Given the description of an element on the screen output the (x, y) to click on. 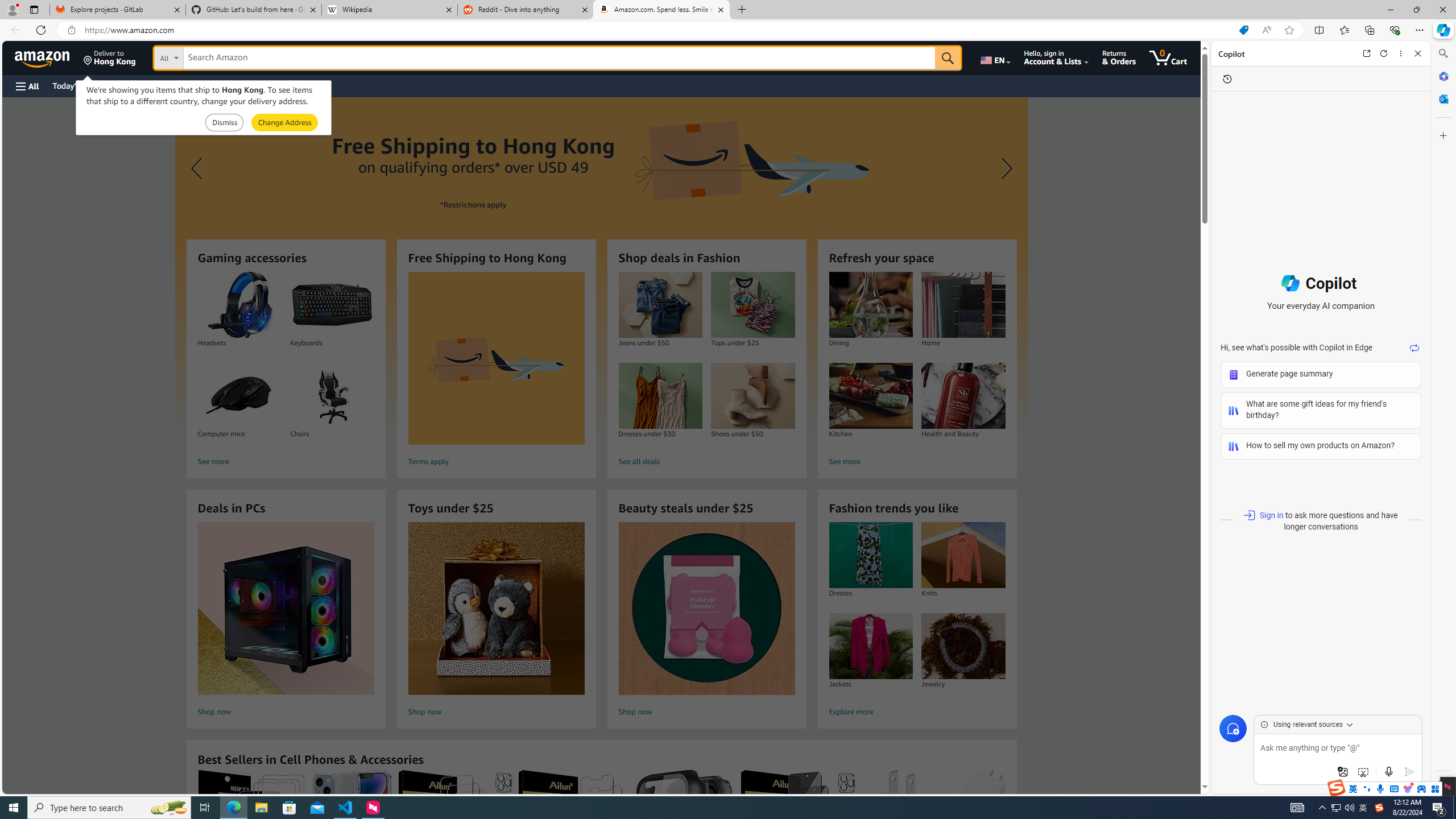
Keyboards (331, 304)
Jeans under $50 (660, 304)
Computer mice (239, 395)
Go (947, 57)
Kitchen (870, 395)
Beauty steals under $25 Shop now (706, 620)
Previous slide (198, 168)
Shoes under $50 (752, 395)
